Given the description of an element on the screen output the (x, y) to click on. 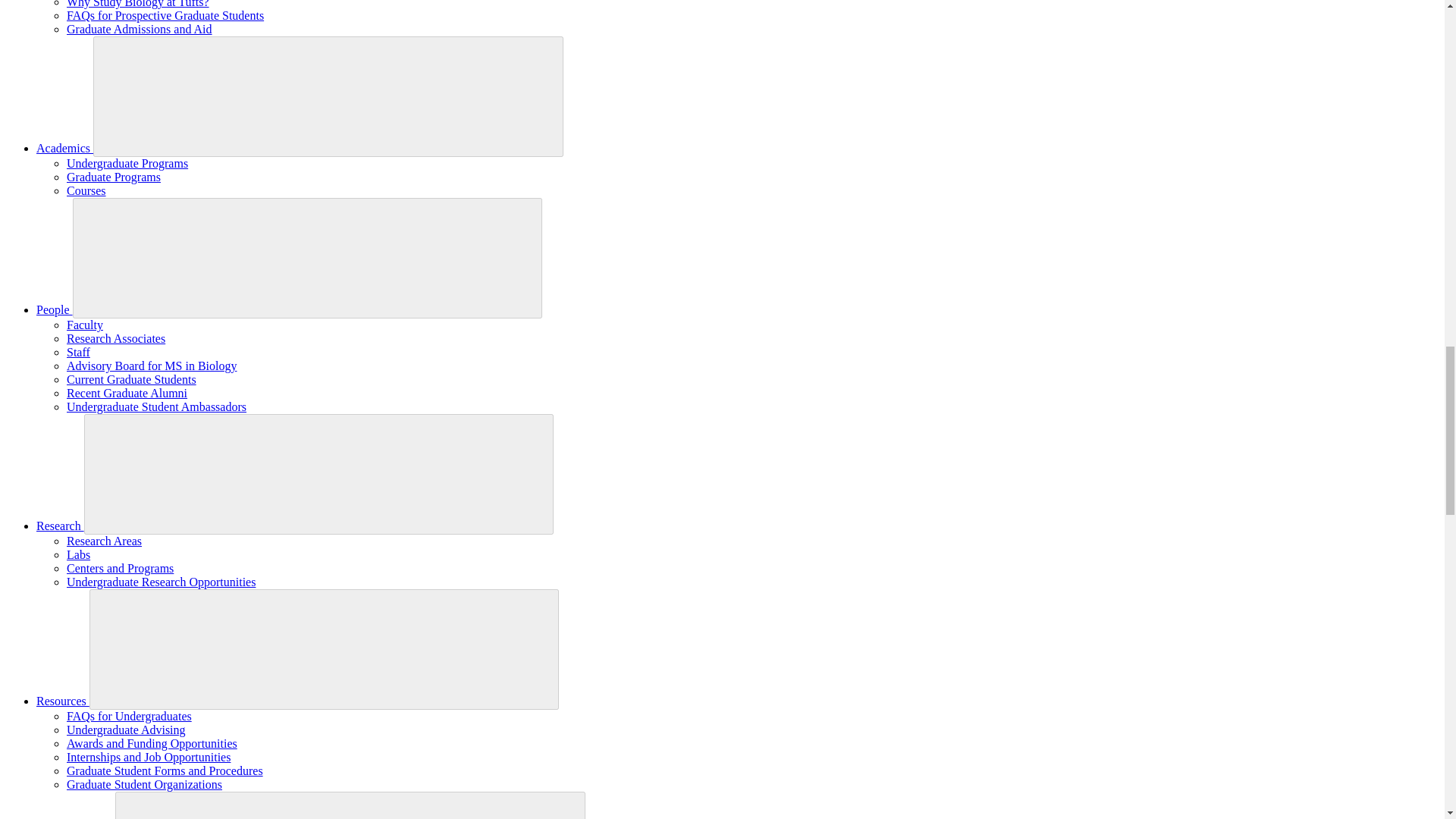
Undergraduate Programs (126, 163)
Graduate Programs (113, 176)
Courses (86, 190)
Graduate Admissions and Aid (139, 29)
Academics (64, 147)
Faculty (84, 324)
People (54, 309)
FAQs for Prospective Graduate Students (164, 15)
Research Associates (115, 338)
Why Study Biology at Tufts? (137, 4)
